Given the description of an element on the screen output the (x, y) to click on. 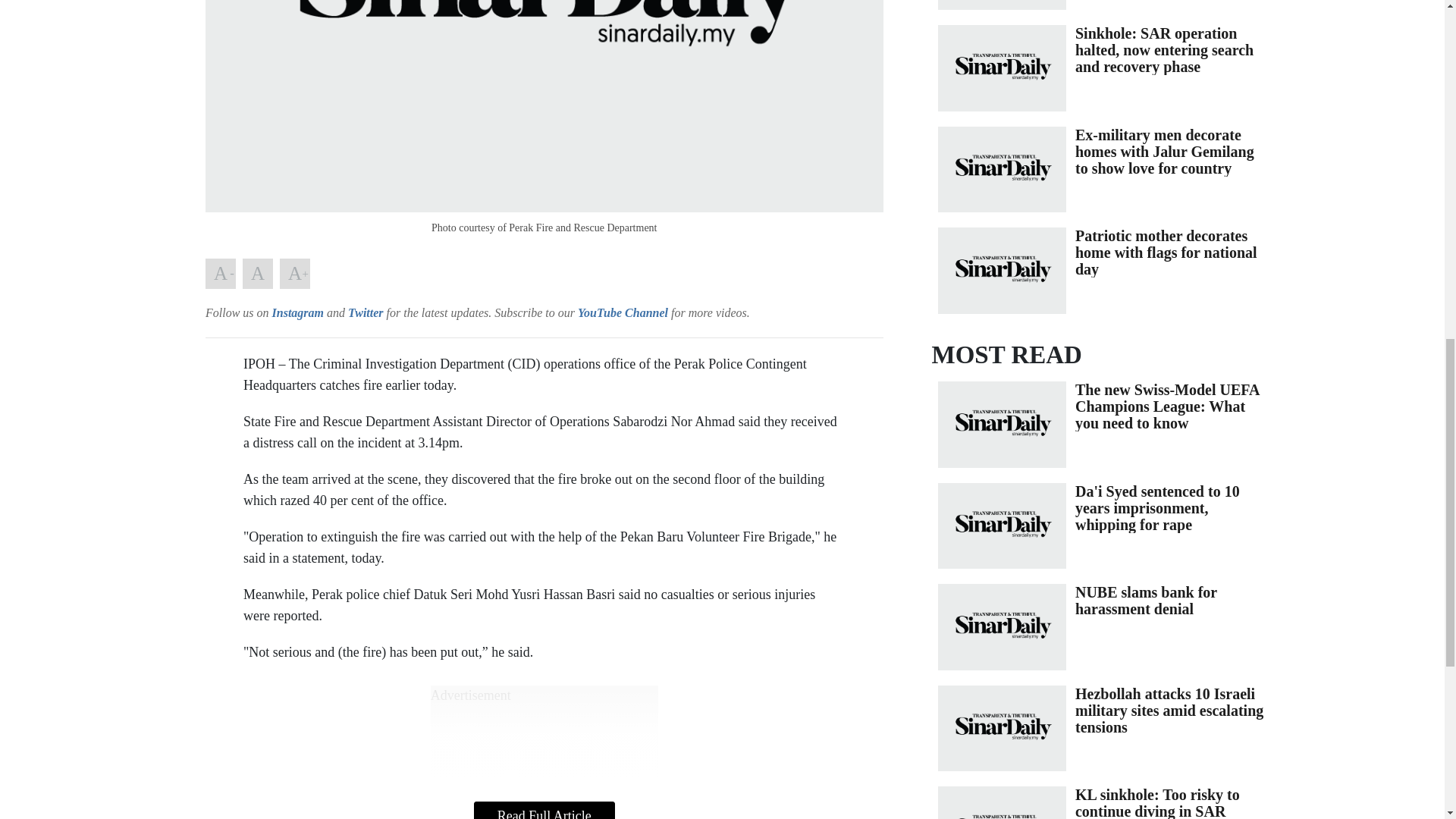
Teks Kecil (220, 273)
Teks Besar (294, 273)
Teks Asal (258, 273)
